Given the description of an element on the screen output the (x, y) to click on. 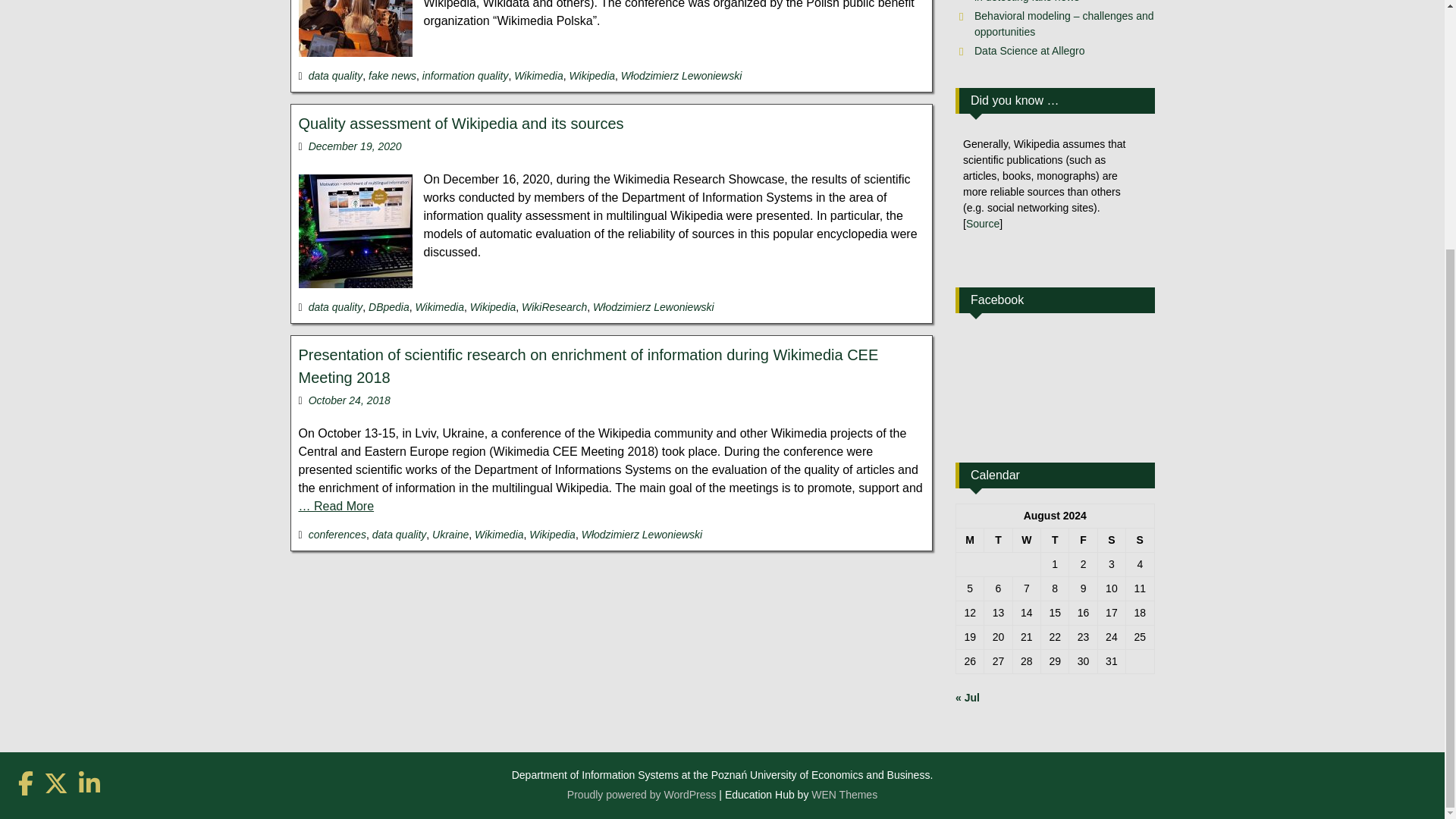
Wikipedia (591, 75)
Sunday (1139, 540)
conferences (337, 534)
Thursday (1054, 540)
Monday (969, 540)
Saturday (1111, 540)
WikiResearch (553, 306)
fake news (392, 75)
DBpedia (388, 306)
Quality assessment of Wikipedia and its sources (461, 123)
